Given the description of an element on the screen output the (x, y) to click on. 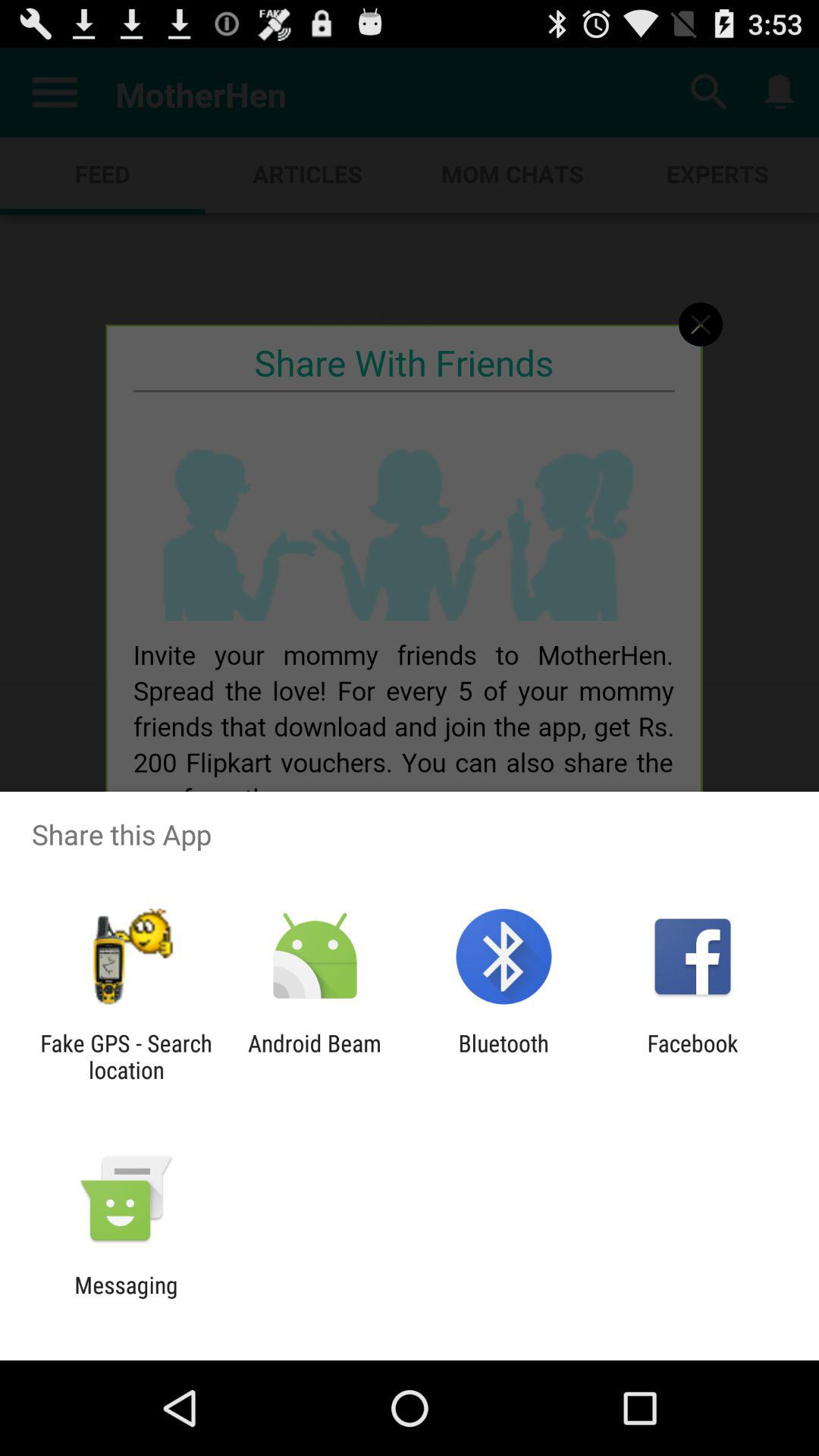
click the icon next to fake gps search app (314, 1056)
